Given the description of an element on the screen output the (x, y) to click on. 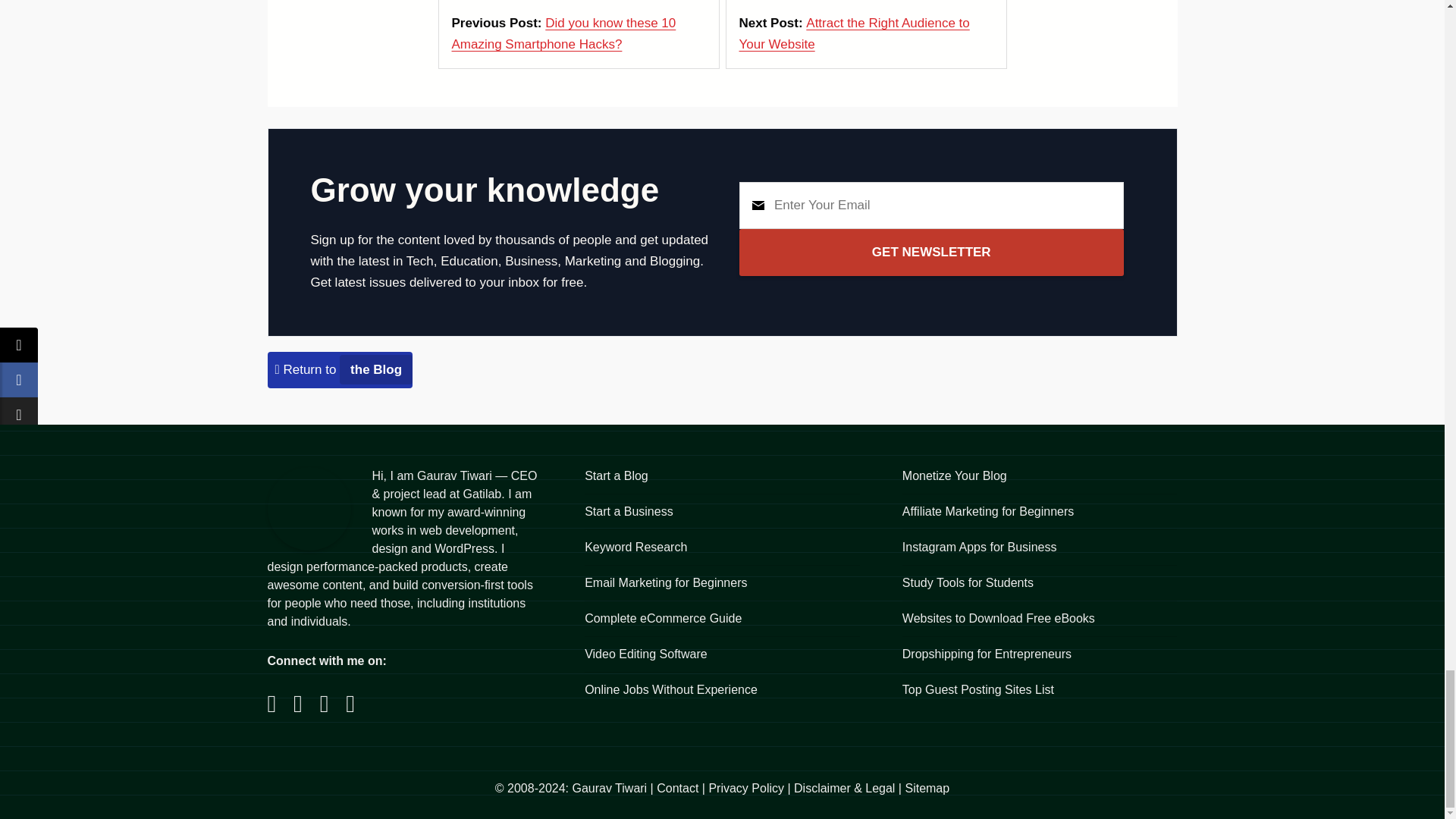
Get Newsletter (931, 252)
Return to the Blog (343, 369)
Did you know these 10 Amazing Smartphone Hacks? (564, 33)
Get Newsletter (931, 252)
Attract the Right Audience to Your Website (853, 33)
